Given the description of an element on the screen output the (x, y) to click on. 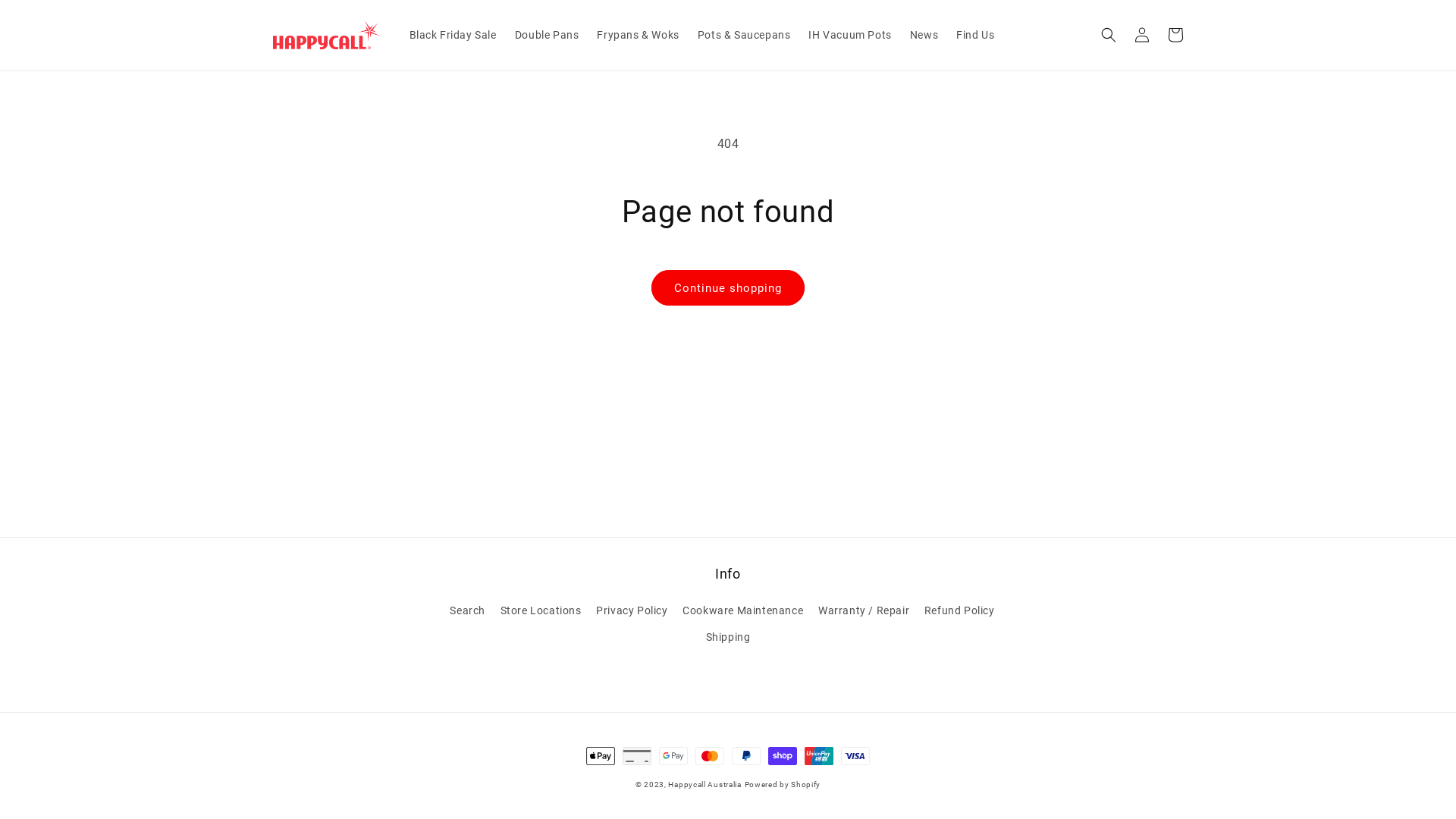
Cart Element type: text (1175, 34)
Double Pans Element type: text (546, 34)
Pots & Saucepans Element type: text (744, 34)
News Element type: text (923, 34)
Find Us Element type: text (975, 34)
Search Element type: text (467, 612)
Happycall Australia Element type: text (704, 784)
Refund Policy Element type: text (959, 610)
Powered by Shopify Element type: text (782, 784)
Warranty / Repair Element type: text (863, 610)
Continue shopping Element type: text (727, 287)
Log in Element type: text (1141, 34)
Shipping Element type: text (728, 637)
Privacy Policy Element type: text (631, 610)
Cookware Maintenance Element type: text (742, 610)
Frypans & Woks Element type: text (637, 34)
IH Vacuum Pots Element type: text (849, 34)
Black Friday Sale Element type: text (452, 34)
Store Locations Element type: text (540, 610)
